Given the description of an element on the screen output the (x, y) to click on. 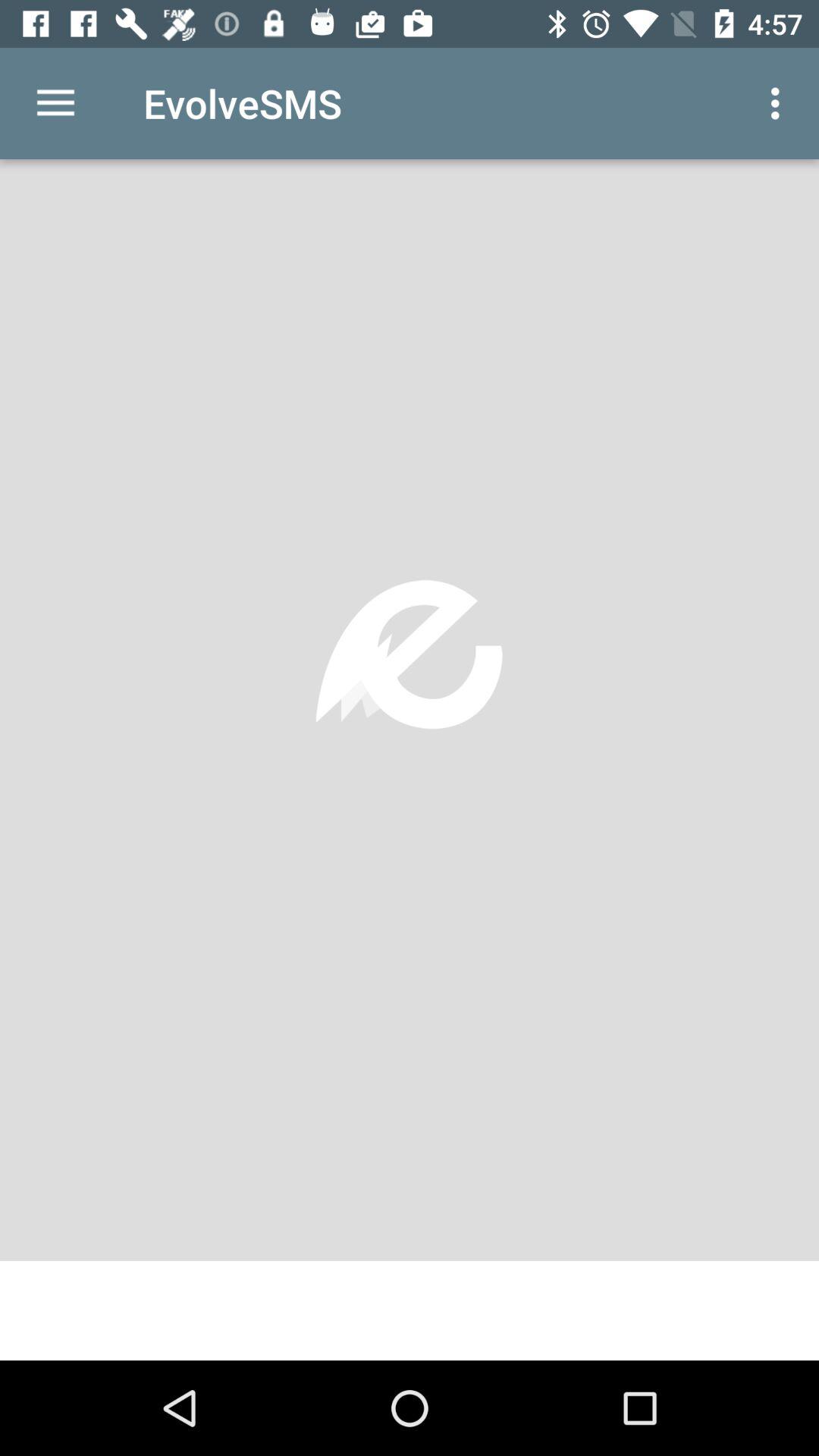
turn on item to the right of the evolvesms (779, 103)
